Given the description of an element on the screen output the (x, y) to click on. 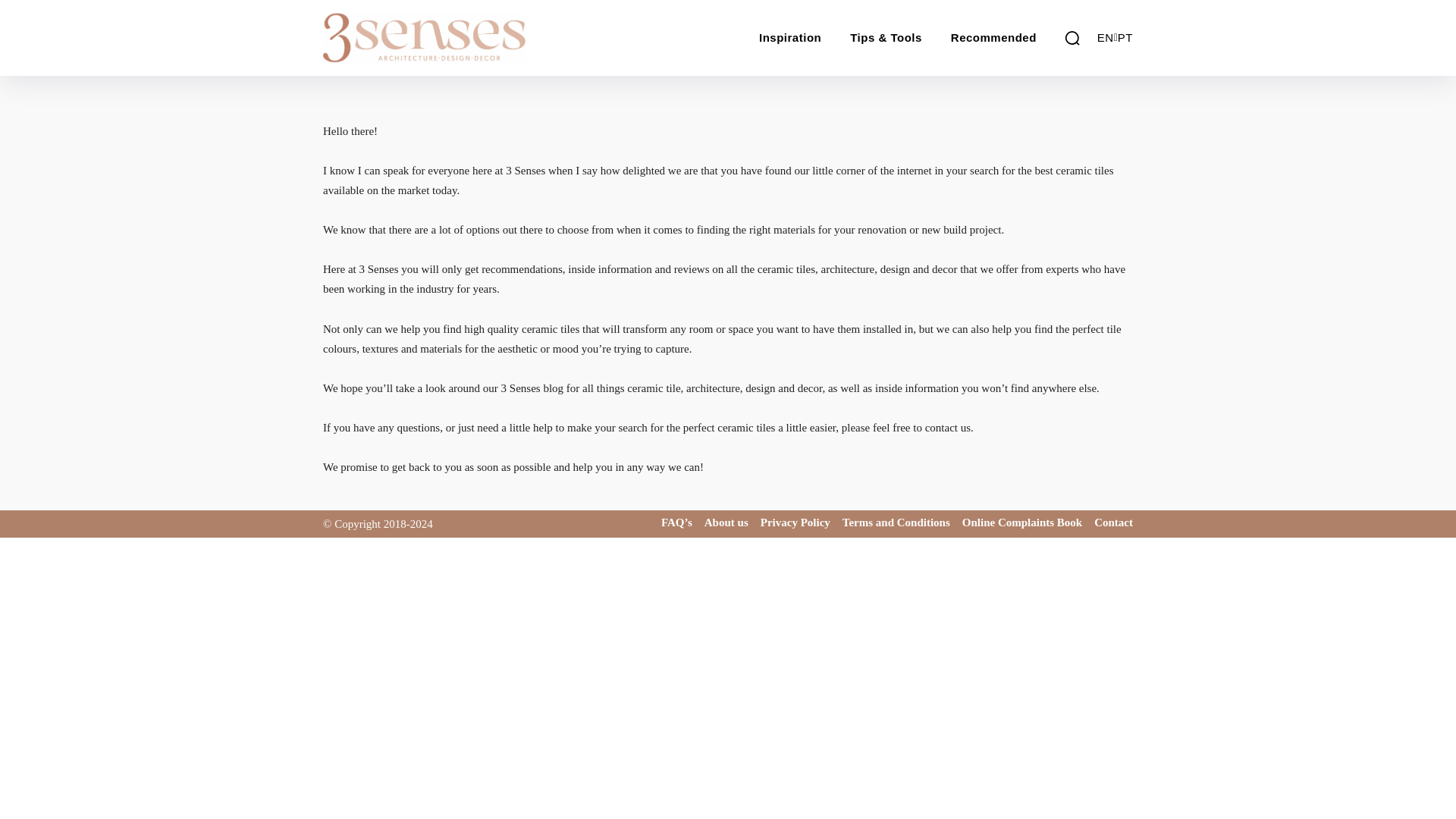
Terms and Conditions (896, 522)
Inspiration (789, 38)
Contact (1113, 522)
Recommended (993, 38)
Online Complaints Book (1021, 522)
About us (726, 522)
Privacy Policy (794, 522)
